Given the description of an element on the screen output the (x, y) to click on. 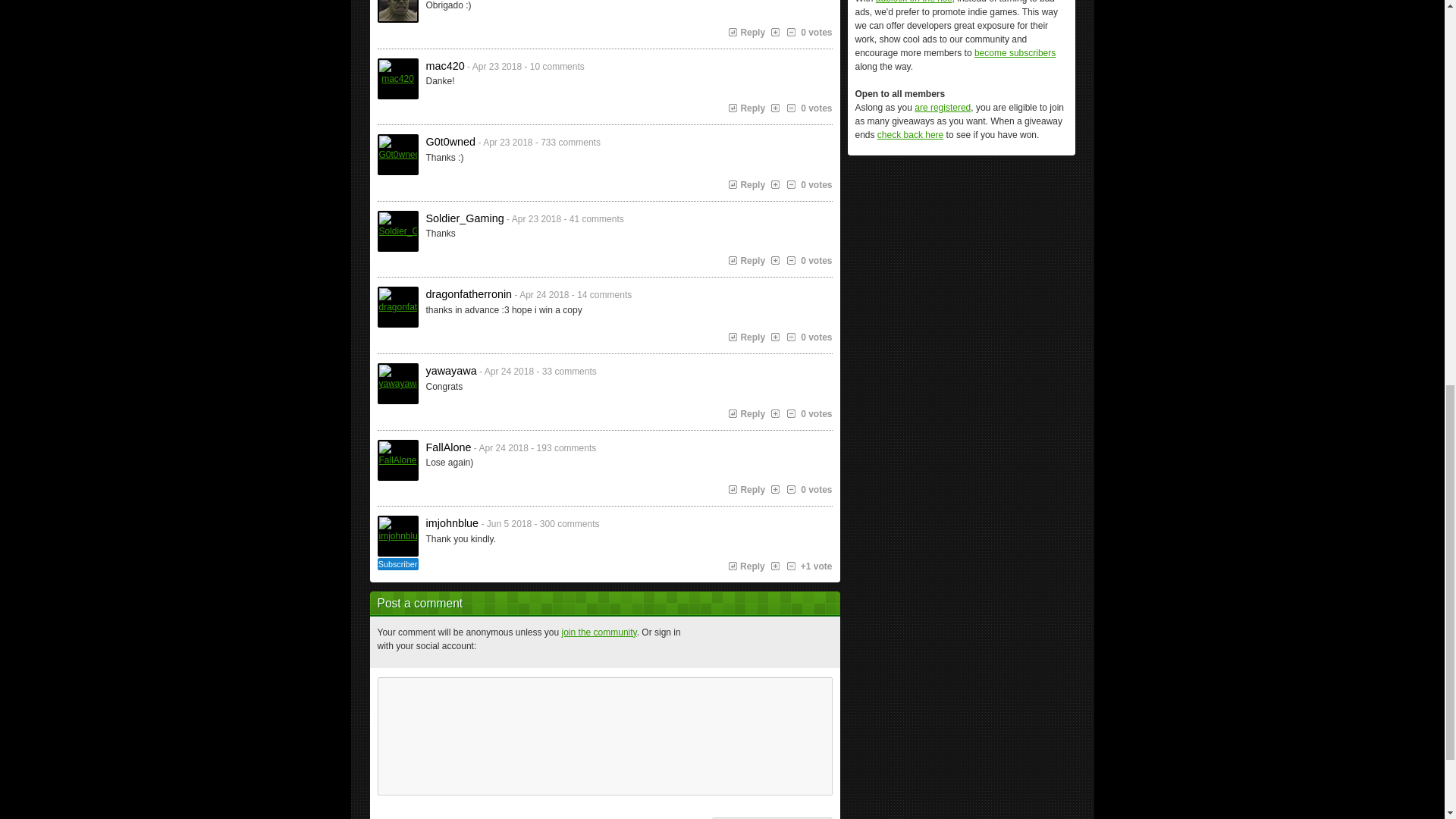
Reply (745, 32)
cadu21 (398, 11)
Save comment (771, 818)
